Given the description of an element on the screen output the (x, y) to click on. 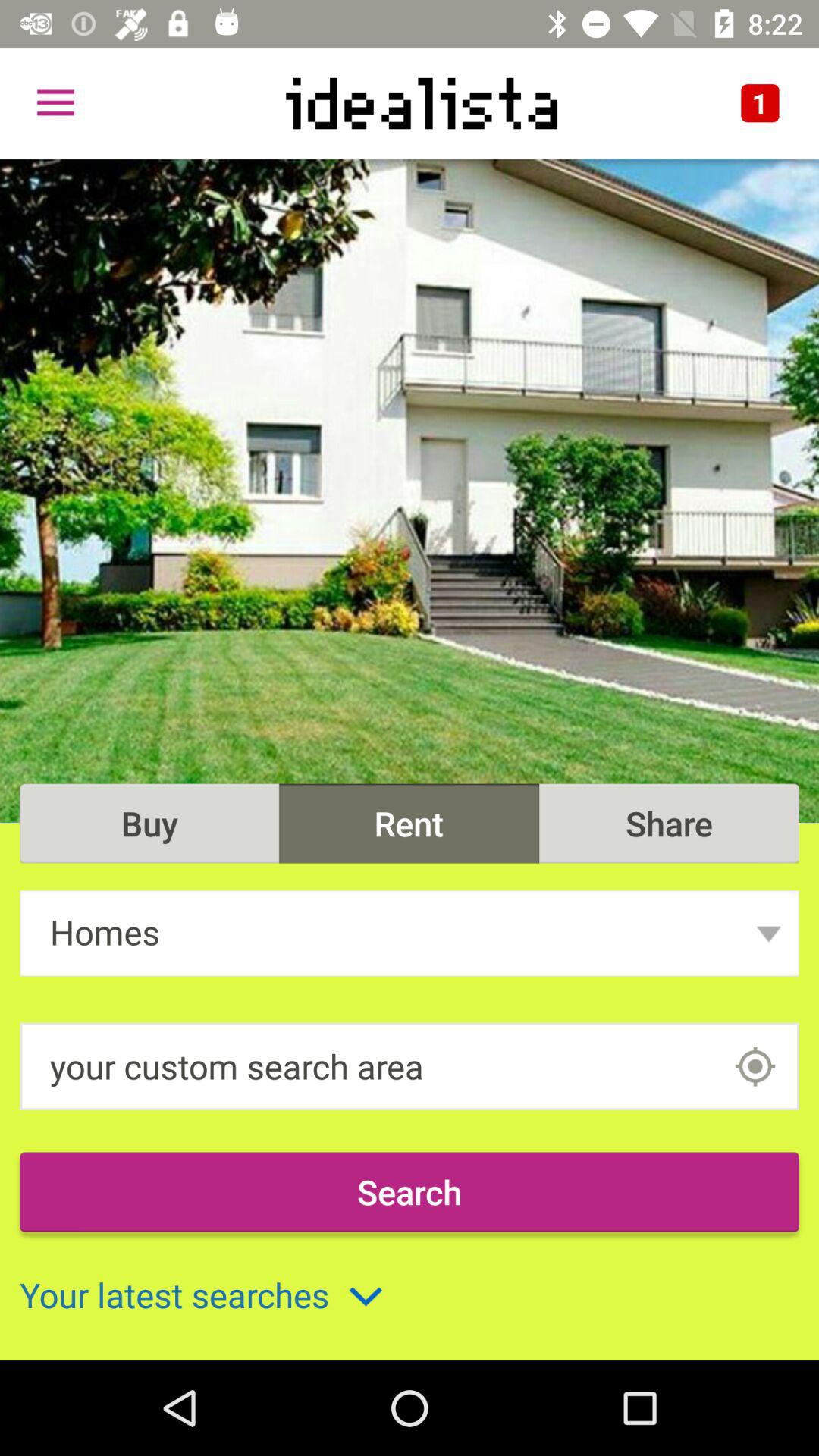
area input box (755, 1066)
